Given the description of an element on the screen output the (x, y) to click on. 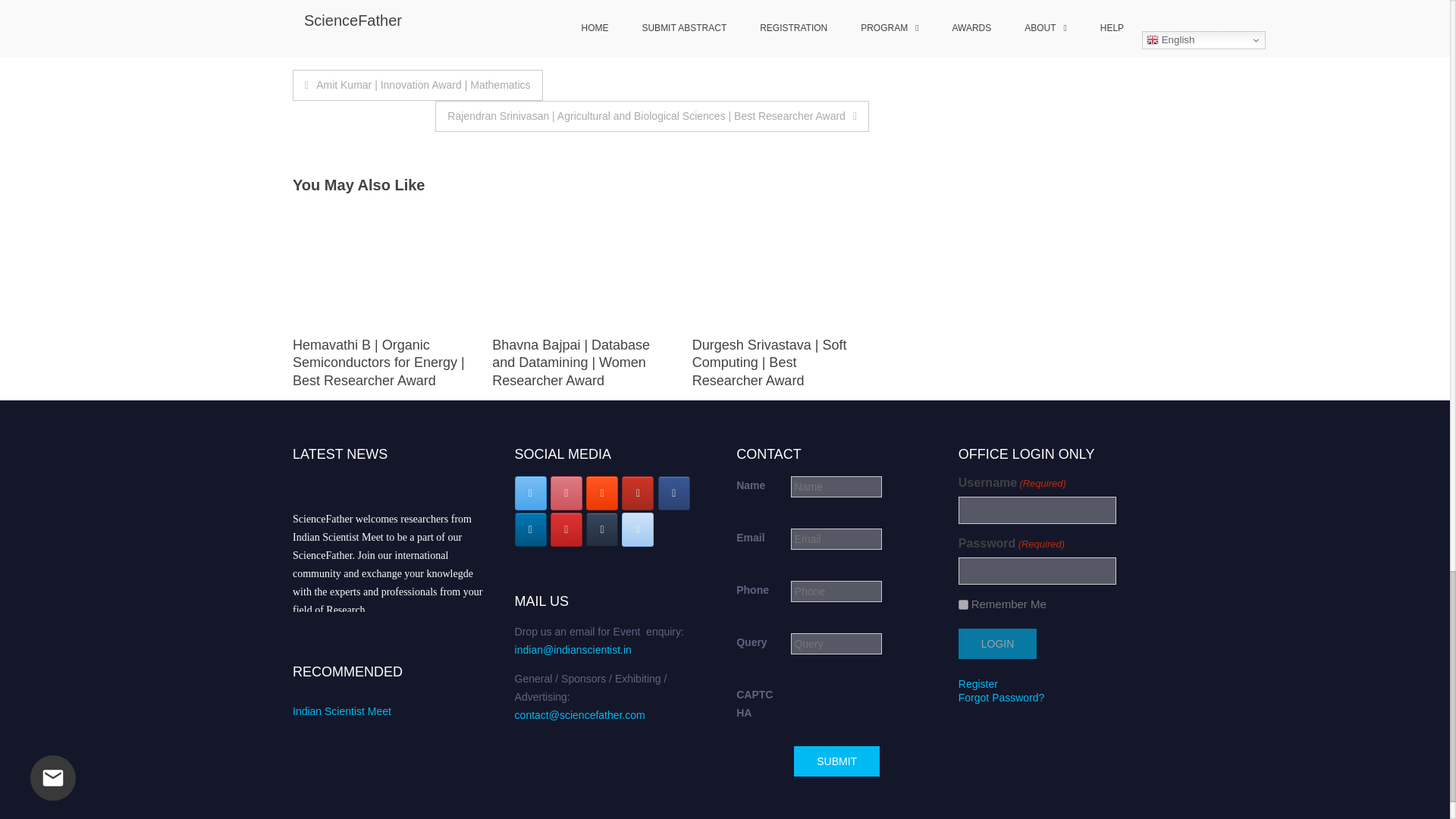
1 (963, 603)
Submit (836, 761)
Login (997, 643)
